Given the description of an element on the screen output the (x, y) to click on. 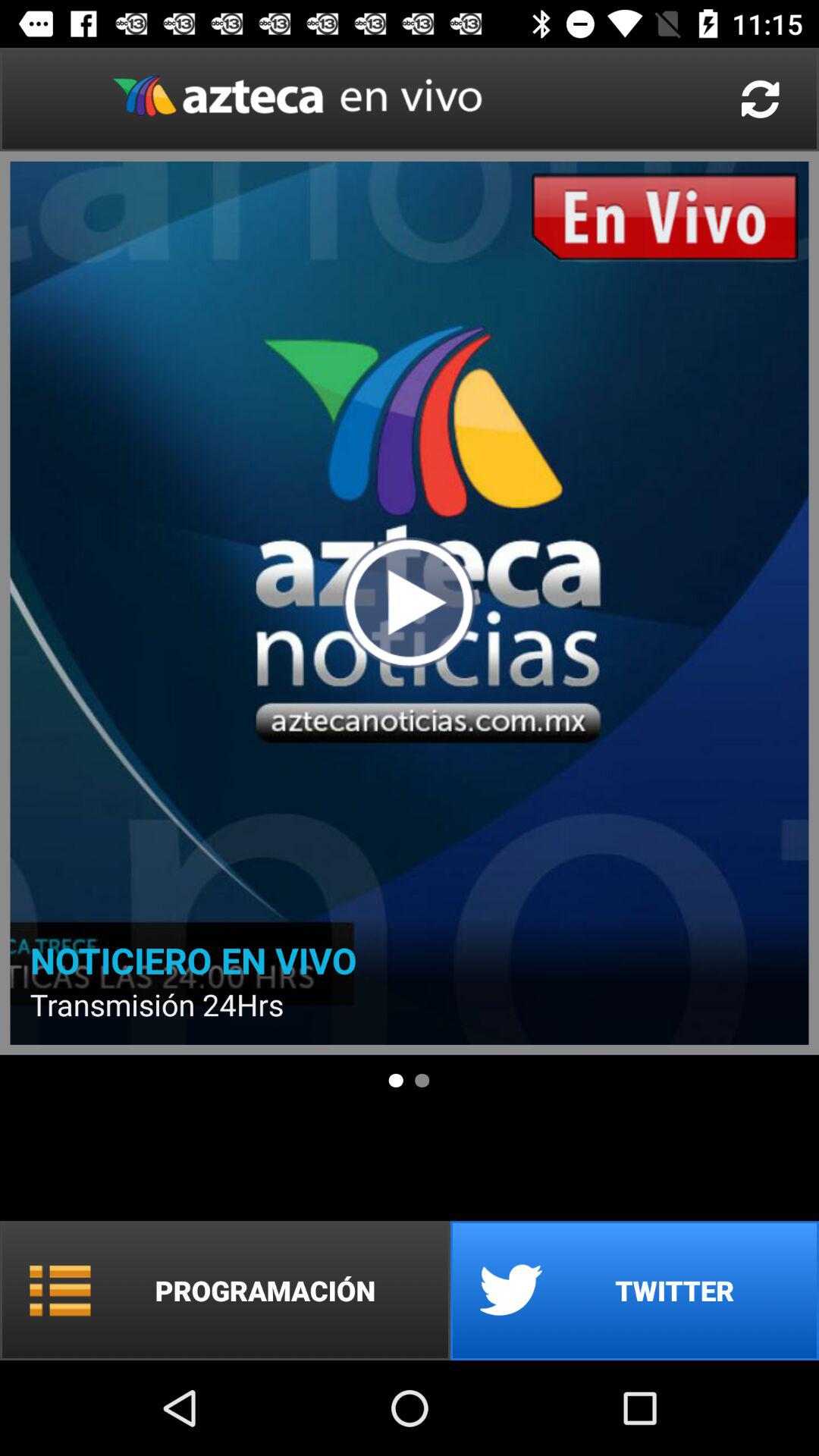
choose item below . icon (225, 1290)
